Given the description of an element on the screen output the (x, y) to click on. 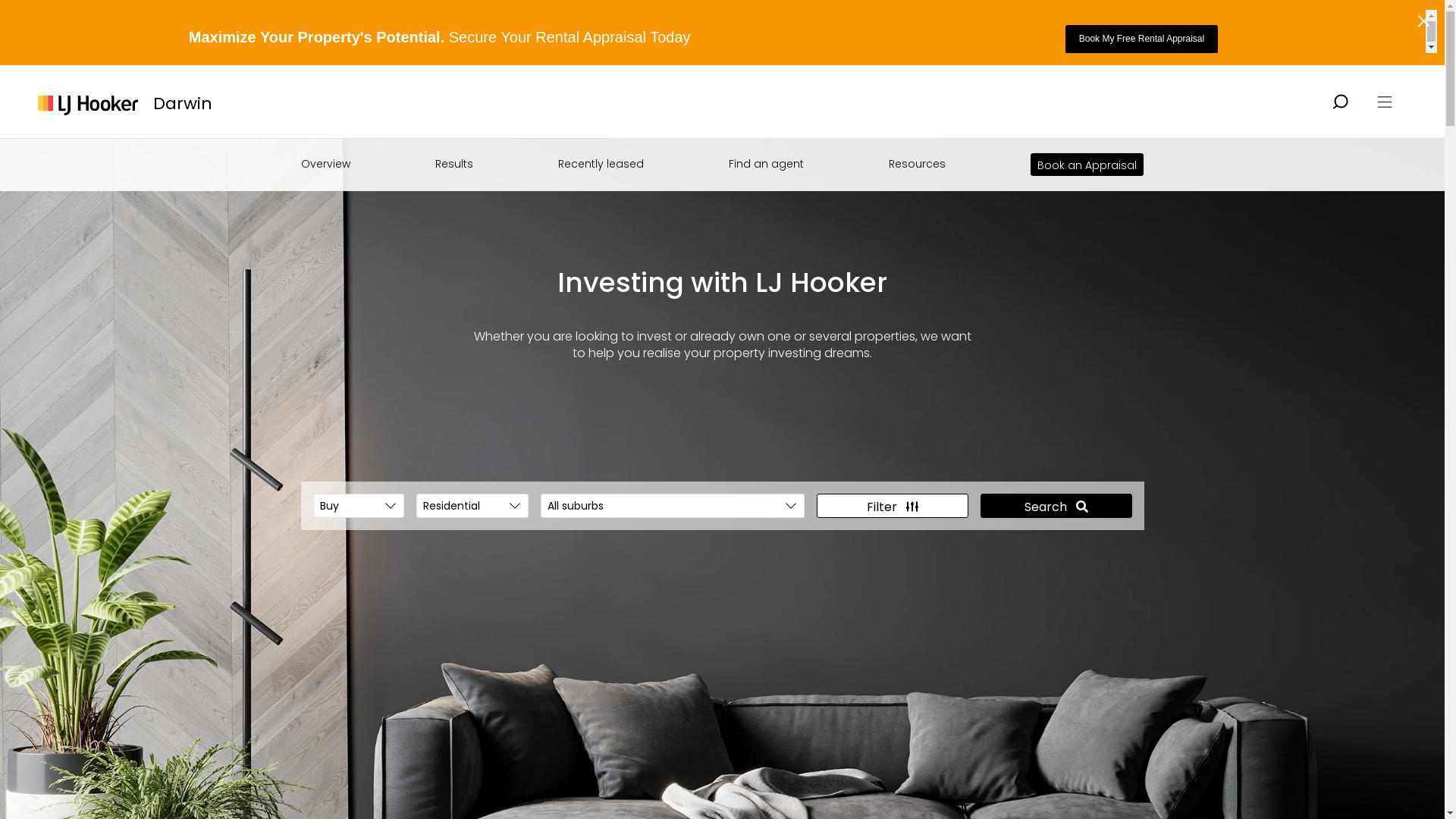
Results Element type: text (454, 163)
Filter Element type: text (891, 505)
Recently leased Element type: text (600, 163)
Search Element type: text (1055, 505)
Find an agent Element type: text (765, 163)
Overview Element type: text (324, 163)
Book an Appraisal Element type: text (1086, 164)
Resources Element type: text (916, 163)
